Given the description of an element on the screen output the (x, y) to click on. 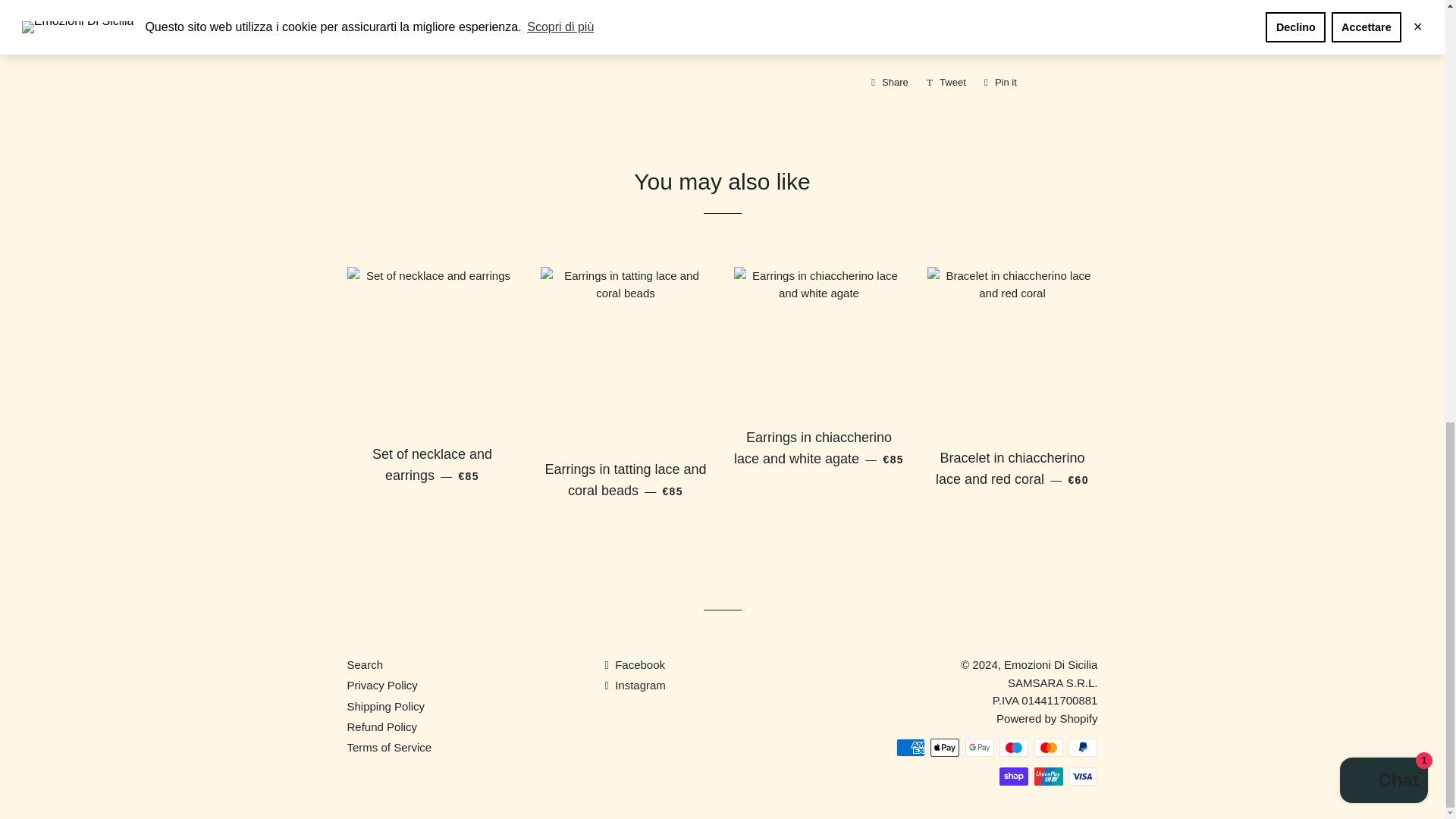
Tweet on Twitter (946, 82)
Mastercard (1000, 82)
Pin on Pinterest (1047, 747)
Emozioni Di Sicilia on Facebook (946, 82)
Union Pay (889, 82)
American Express (1000, 82)
Apple Pay (634, 664)
Shop Pay (1047, 776)
Emozioni Di Sicilia on Instagram (910, 747)
Maestro (944, 747)
Share on Facebook (1012, 776)
Google Pay (634, 684)
